Given the description of an element on the screen output the (x, y) to click on. 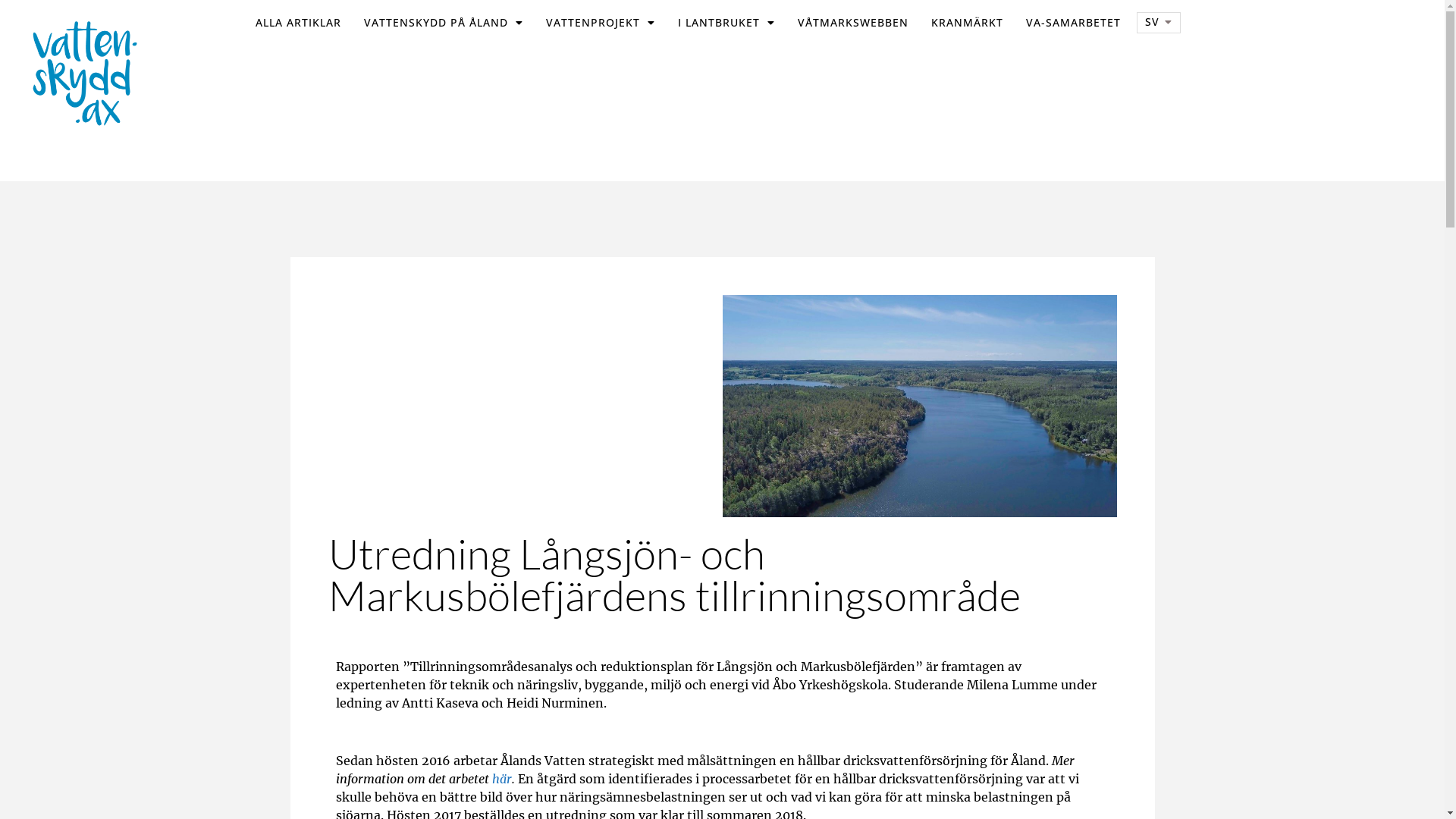
VA-SAMARBETET Element type: text (1073, 22)
VATTENPROJEKT Element type: text (600, 22)
SV Element type: text (1158, 22)
I LANTBRUKET Element type: text (726, 22)
ALLA ARTIKLAR Element type: text (298, 22)
